Given the description of an element on the screen output the (x, y) to click on. 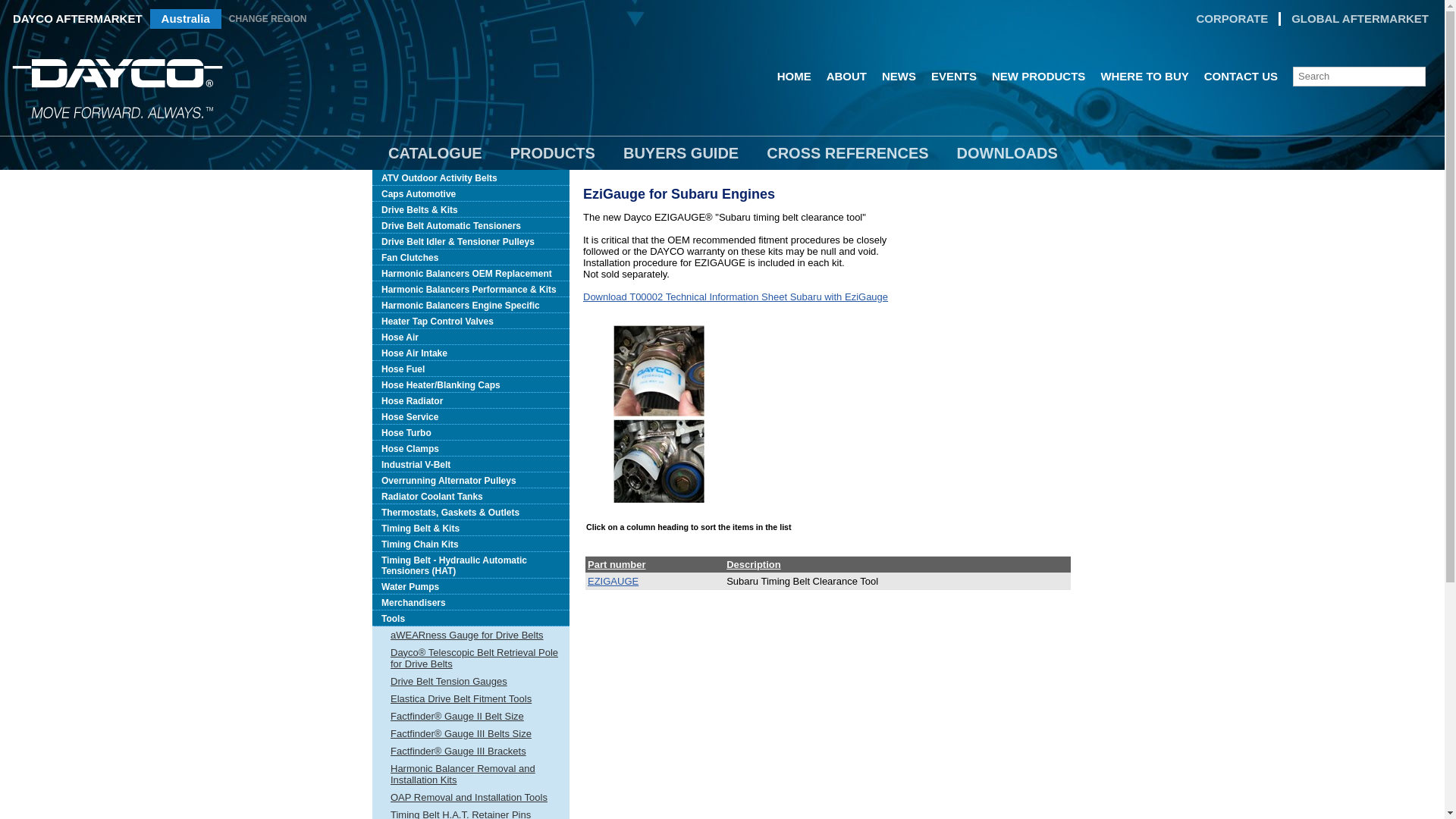
Harmonic Balancer Removal and Installation Kits Element type: text (470, 773)
ATV Outdoor Activity Belts Element type: text (470, 177)
CROSS REFERENCES Element type: text (847, 152)
Description Element type: text (753, 564)
Hose Heater/Blanking Caps Element type: text (470, 384)
Hose Service Element type: text (470, 416)
Water Pumps Element type: text (470, 586)
Tools Element type: text (470, 618)
Thermostats, Gaskets & Outlets Element type: text (470, 512)
CATALOGUE Element type: text (435, 152)
Harmonic Balancers Engine Specific Element type: text (470, 305)
Elastica Drive Belt Fitment Tools Element type: text (470, 698)
Drive Belts & Kits Element type: text (470, 209)
Hose Air Element type: text (470, 337)
BUYERS GUIDE Element type: text (680, 152)
Caps Automotive Element type: text (470, 193)
Harmonic Balancers Performance & Kits Element type: text (470, 289)
OAP Removal and Installation Tools Element type: text (470, 797)
Drive Belt Automatic Tensioners Element type: text (470, 225)
Industrial V-Belt Element type: text (470, 464)
Merchandisers Element type: text (470, 602)
Overrunning Alternator Pulleys Element type: text (470, 480)
PRODUCTS Element type: text (552, 152)
Hose Fuel Element type: text (470, 368)
Harmonic Balancers OEM Replacement Element type: text (470, 273)
Drive Belt Tension Gauges Element type: text (470, 681)
WHERE TO BUY Element type: text (1143, 76)
Heater Tap Control Valves Element type: text (470, 321)
Hose Radiator Element type: text (470, 400)
CHANGE REGION Element type: text (267, 18)
CORPORATE Element type: text (1231, 18)
Timing Chain Kits Element type: text (470, 544)
DOWNLOADS Element type: text (1007, 152)
Fan Clutches Element type: text (470, 257)
CONTACT US Element type: text (1240, 76)
GLOBAL AFTERMARKET Element type: text (1359, 18)
NEW PRODUCTS Element type: text (1038, 76)
EVENTS Element type: text (953, 76)
HOME Element type: text (794, 76)
Hose Clamps Element type: text (470, 448)
ABOUT Element type: text (846, 76)
Radiator Coolant Tanks Element type: text (470, 496)
NEWS Element type: text (898, 76)
Part number Element type: text (616, 564)
Timing Belt & Kits Element type: text (470, 528)
Hose Turbo Element type: text (470, 432)
aWEARness Gauge for Drive Belts Element type: text (470, 634)
EZIGAUGE Element type: text (612, 580)
Drive Belt Idler & Tensioner Pulleys Element type: text (470, 241)
Timing Belt - Hydraulic Automatic Tensioners (HAT) Element type: text (470, 565)
Hose Air Intake Element type: text (470, 352)
